Given the description of an element on the screen output the (x, y) to click on. 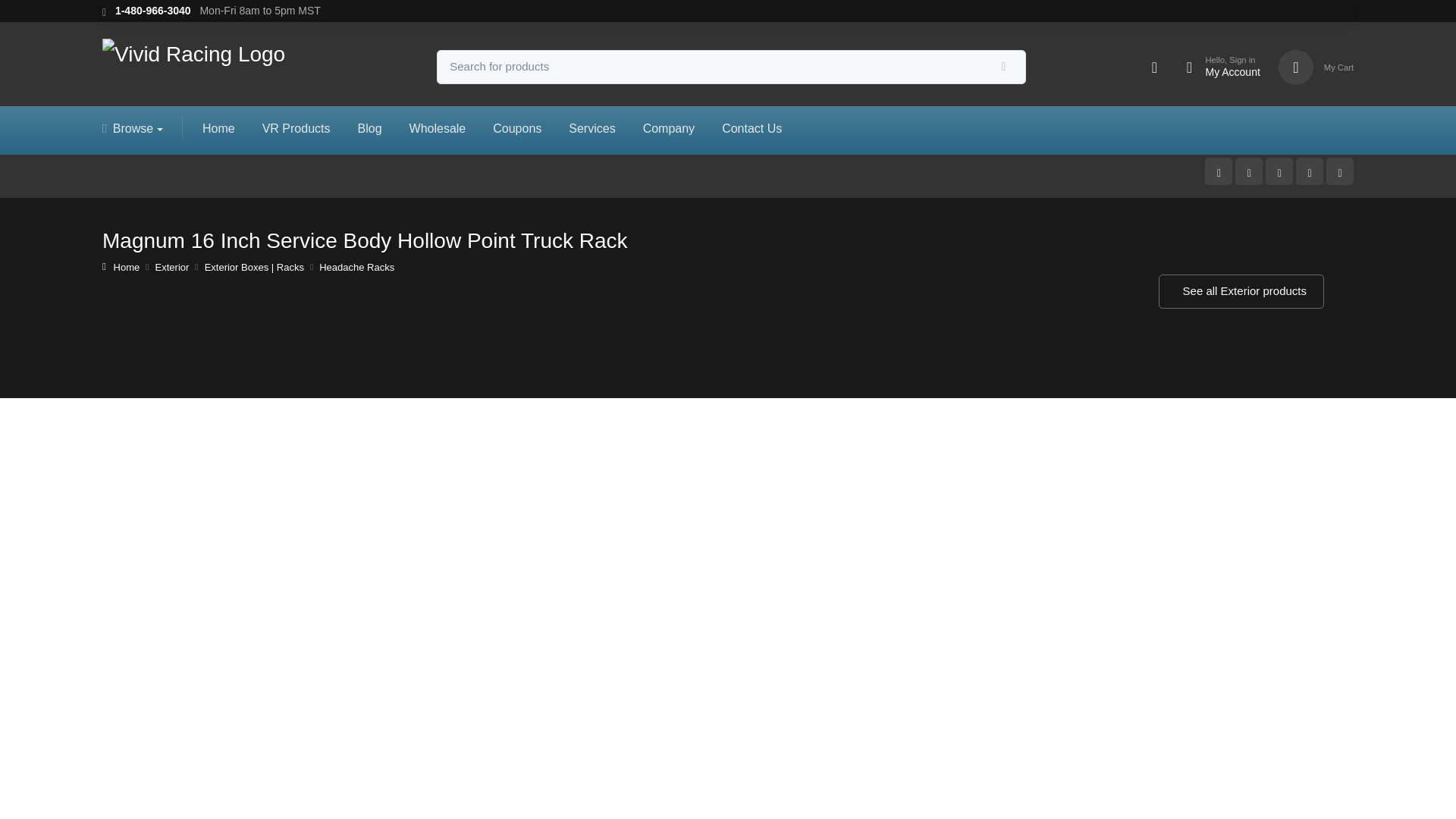
Browse (138, 127)
1-480-966-3040 (1215, 67)
